Given the description of an element on the screen output the (x, y) to click on. 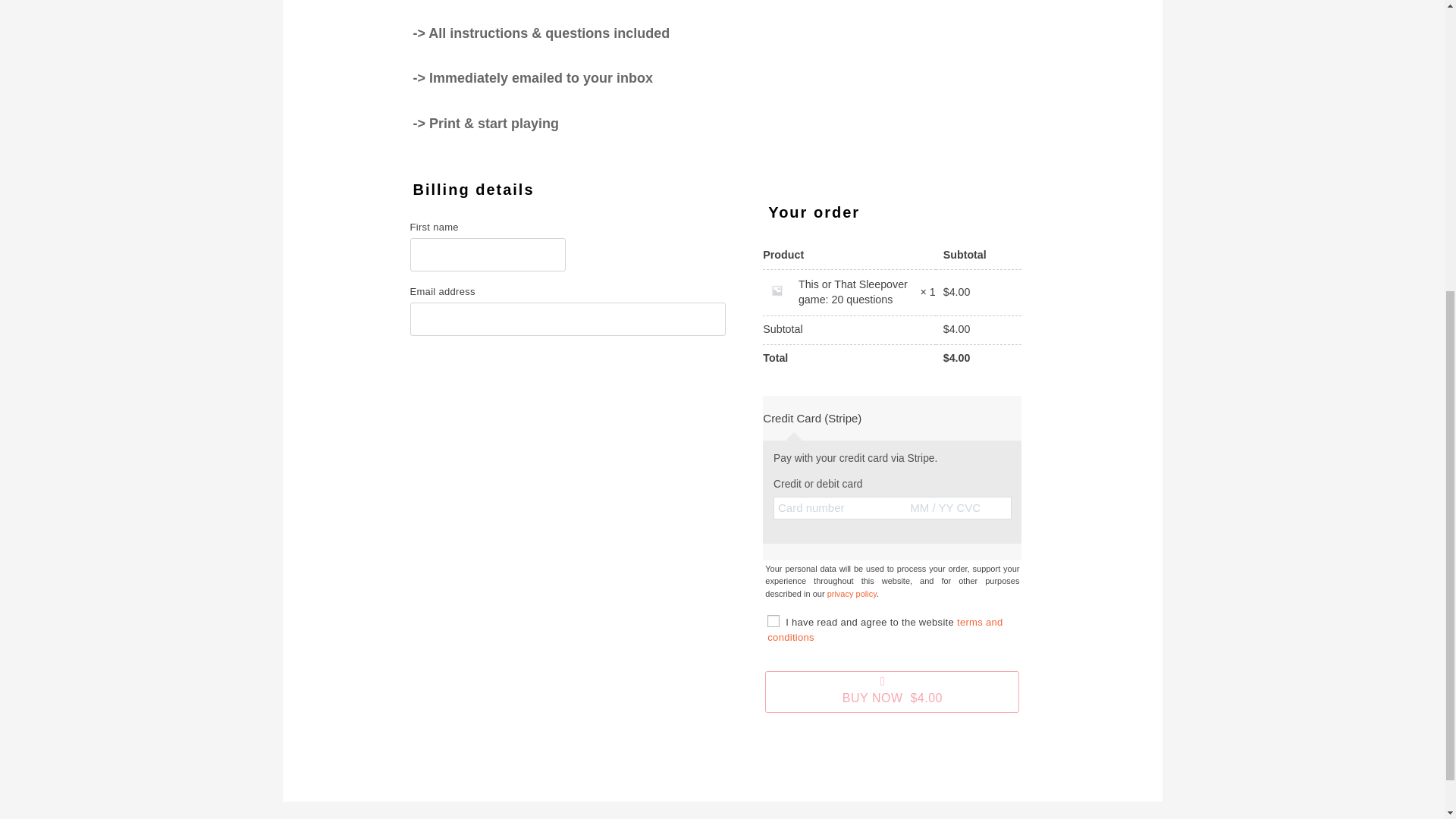
Secure card payment input frame (892, 508)
on (772, 621)
terms and conditions (885, 629)
privacy policy (851, 593)
